Given the description of an element on the screen output the (x, y) to click on. 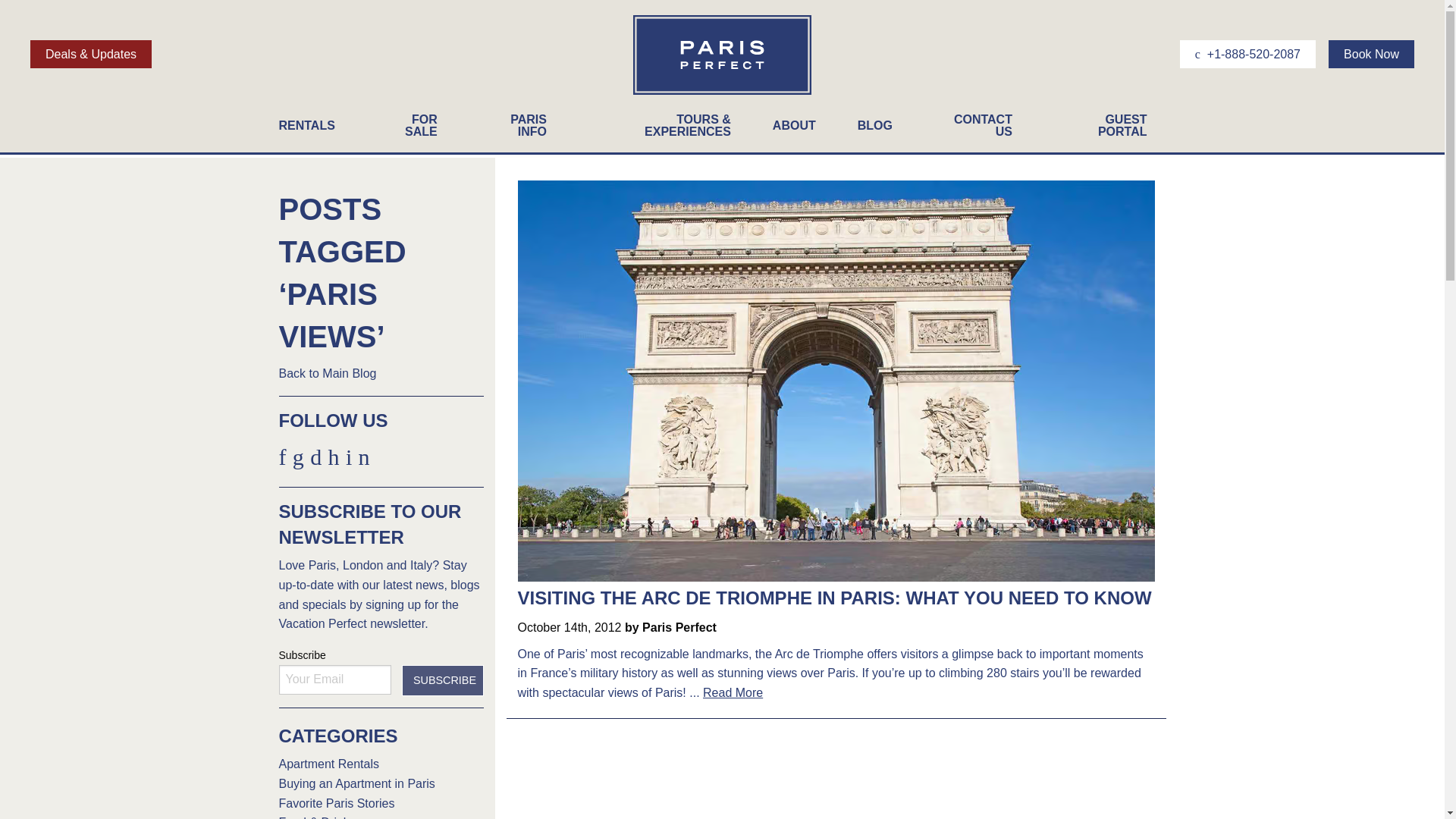
Paris Vacation Rentals (721, 92)
Book Now (1370, 53)
PARIS INFO (521, 129)
RENTALS (315, 129)
Visiting the Arc de Triomphe in Paris: What You Need to Know (835, 379)
FOR SALE (416, 129)
Visiting the Arc de Triomphe in Paris: What You Need to Know (833, 598)
Subscribe (442, 680)
